Given the description of an element on the screen output the (x, y) to click on. 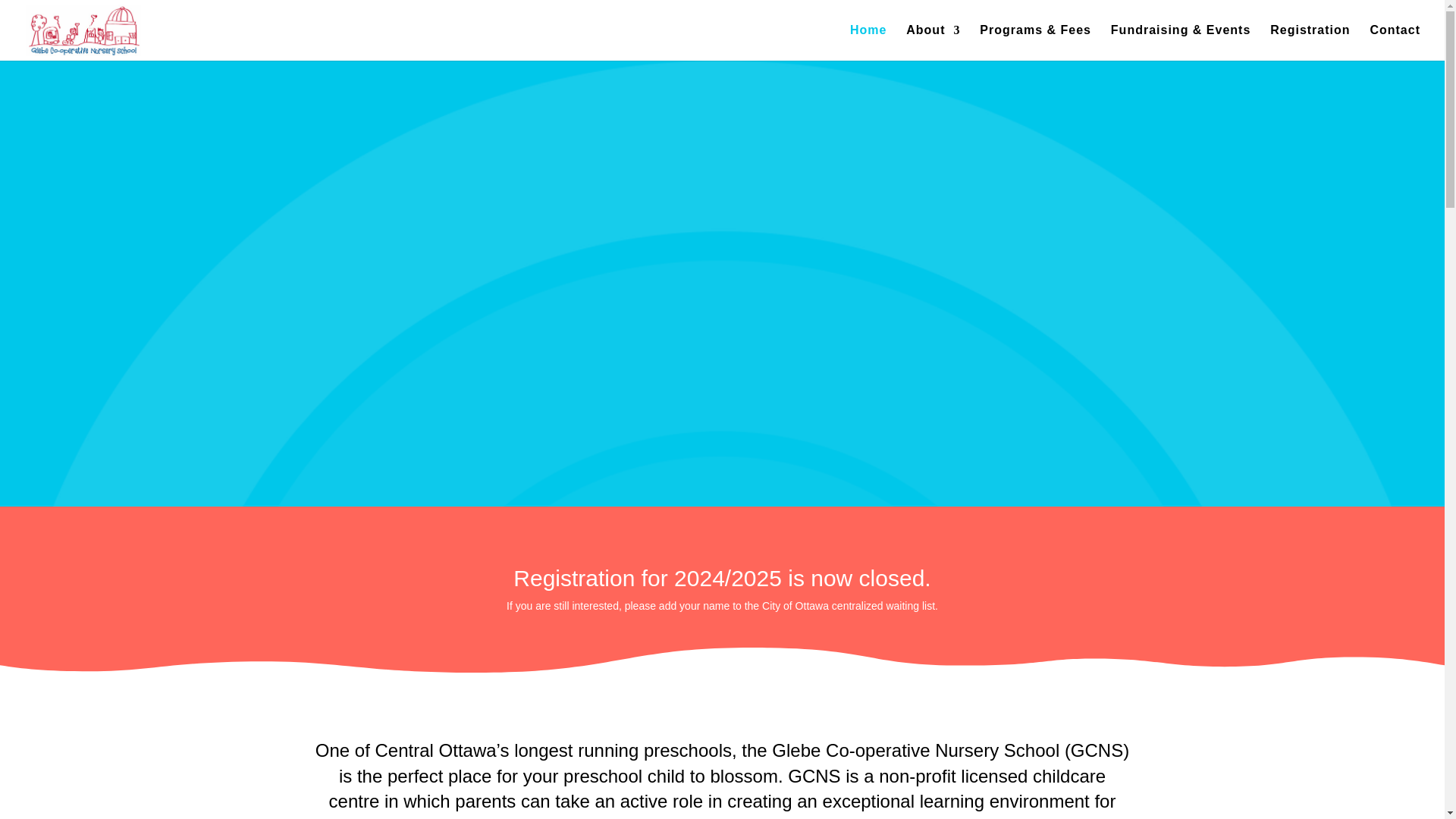
About (932, 42)
Home (868, 42)
Registration (1309, 42)
Contact (1395, 42)
